Given the description of an element on the screen output the (x, y) to click on. 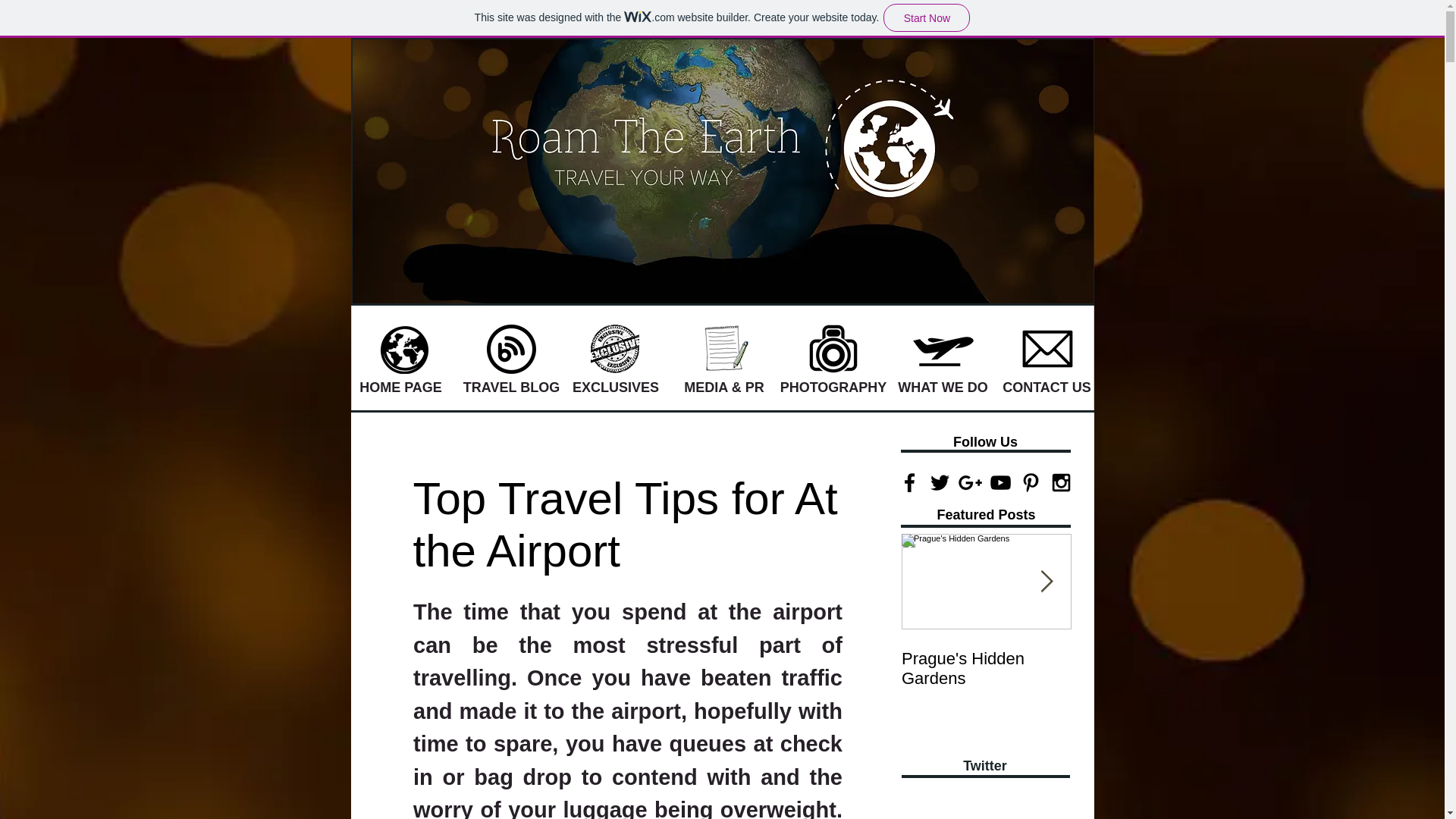
Contact Us (1047, 349)
EXCLUSIVES (615, 387)
PHOTOGRAPHY (833, 388)
WHAT WE DO (941, 388)
TRAVEL BLOG (511, 387)
HOME PAGE (399, 388)
CONTACT US (1045, 387)
